Given the description of an element on the screen output the (x, y) to click on. 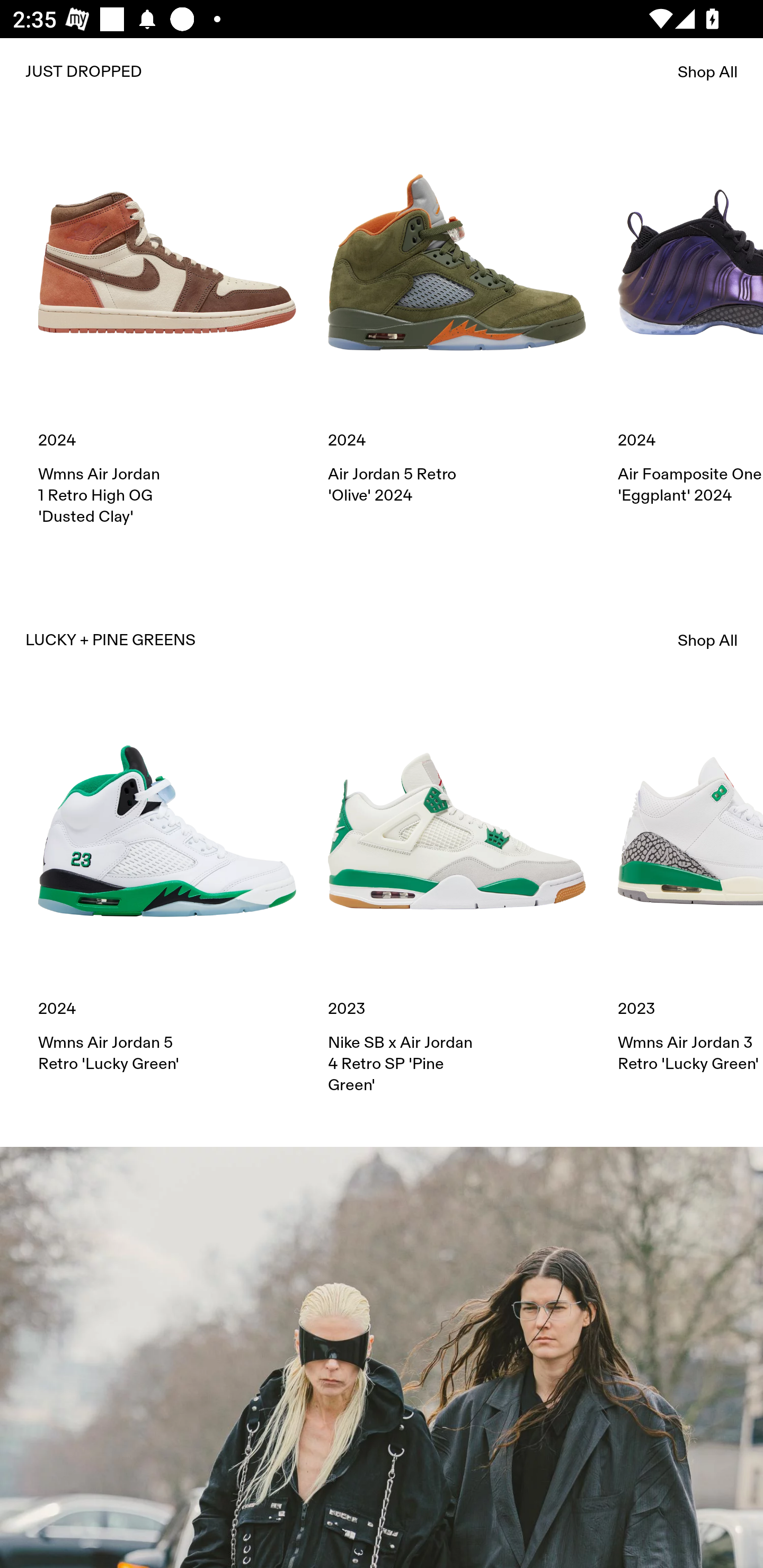
Shop All (707, 71)
2024 Wmns Air Jordan 1 Retro High OG 'Dusted Clay' (167, 329)
2024 Air Jordan 5 Retro 'Olive' 2024 (456, 319)
2024 Air Foamposite One 'Eggplant' 2024 (690, 319)
Shop All (707, 640)
2024 Wmns Air Jordan 5 Retro 'Lucky Green' (167, 888)
2023 Nike SB x Air Jordan 4 Retro SP 'Pine Green' (456, 899)
2023 Wmns Air Jordan 3 Retro 'Lucky Green' (690, 888)
